Given the description of an element on the screen output the (x, y) to click on. 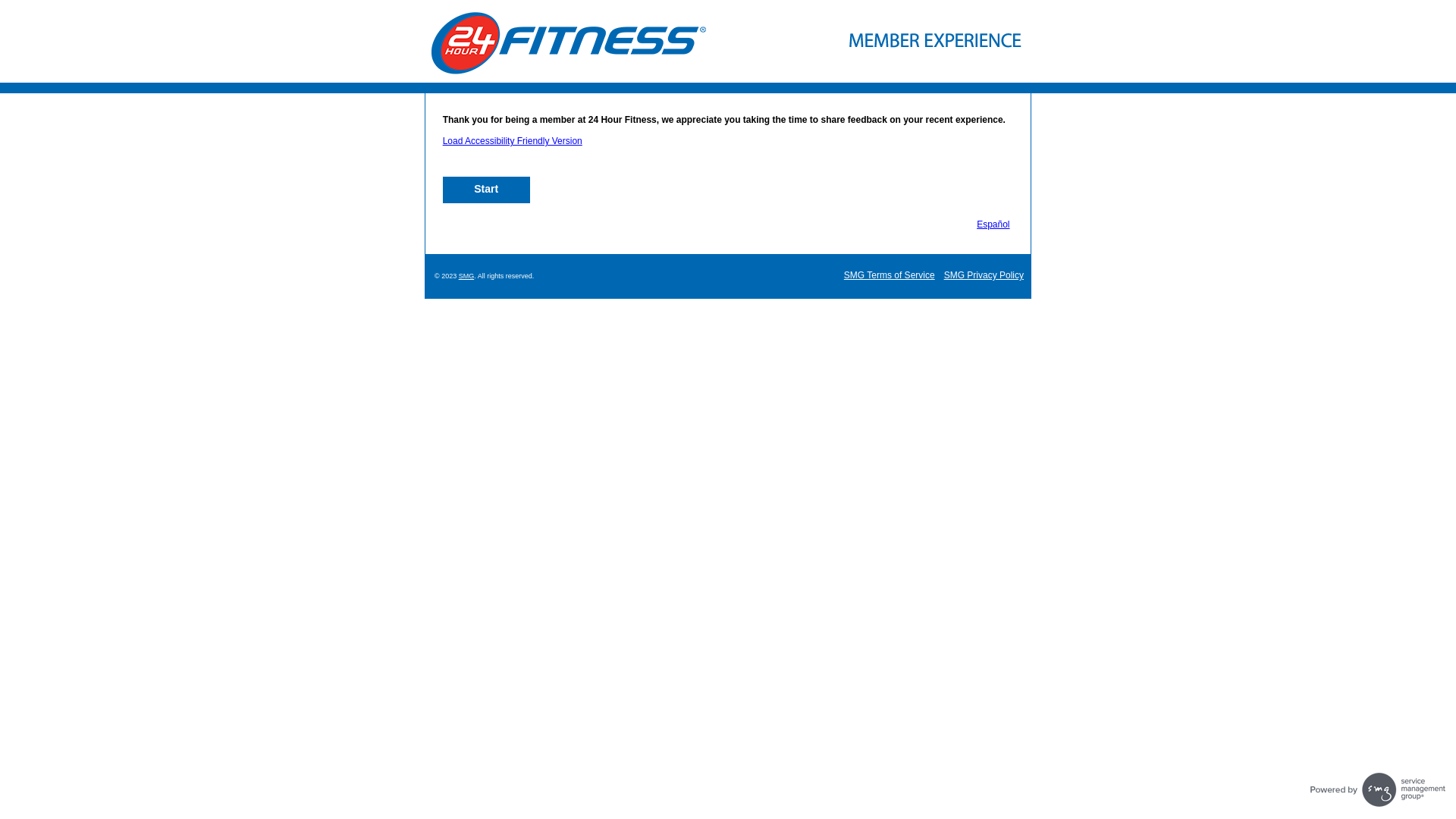
SMG Terms of Service Element type: text (889, 274)
SMG Privacy Policy Element type: text (983, 274)
Load Accessibility Friendly Version Element type: text (512, 140)
SMG Element type: text (466, 275)
Start Element type: text (486, 189)
